Given the description of an element on the screen output the (x, y) to click on. 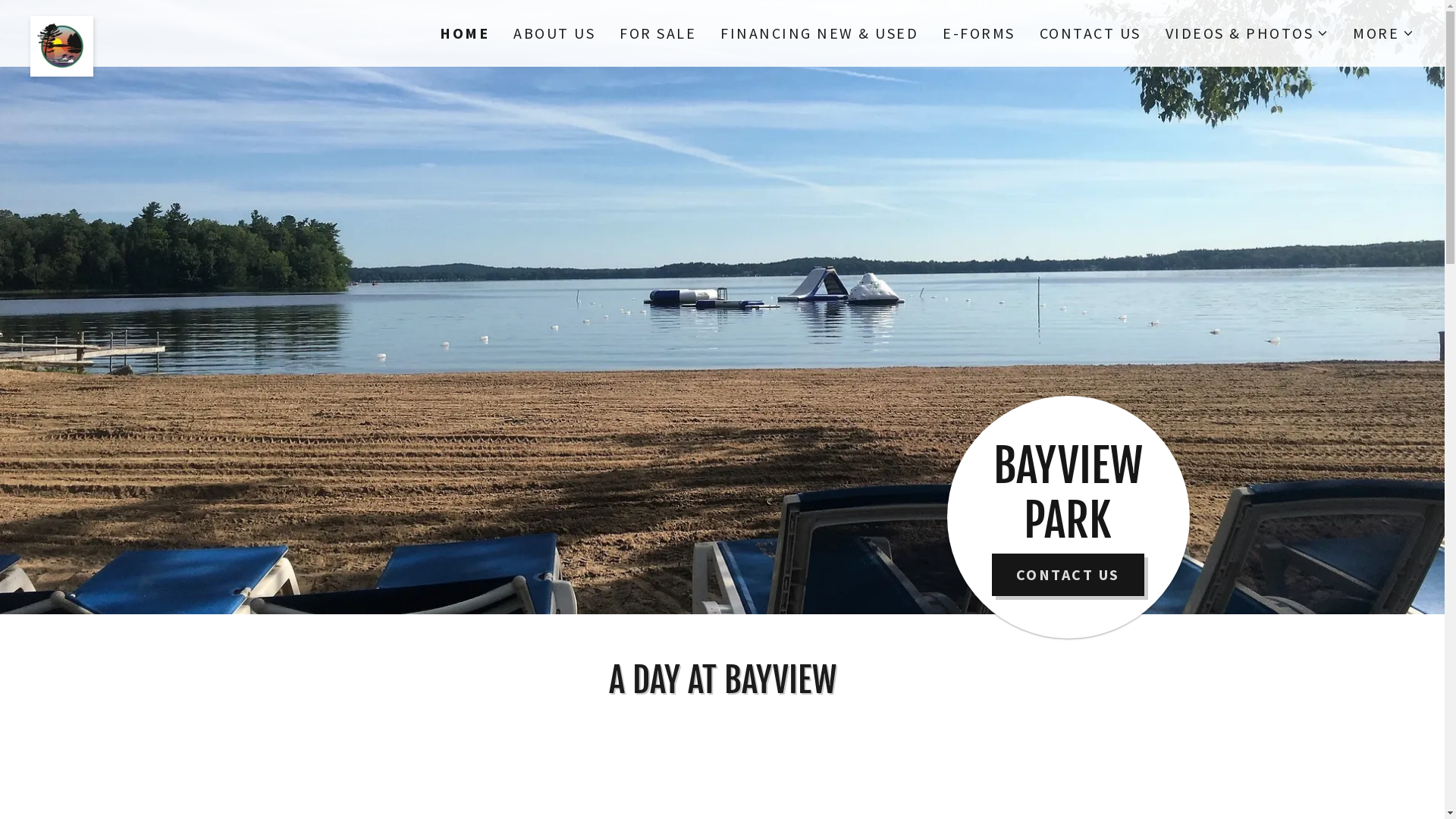
FINANCING NEW & USED Element type: text (818, 33)
CONTACT US Element type: text (1089, 33)
HOME Element type: text (464, 33)
MORE Element type: text (1383, 33)
ABOUT US Element type: text (553, 33)
FOR SALE Element type: text (657, 33)
CONTACT US Element type: text (1067, 574)
VIDEOS & PHOTOS Element type: text (1246, 33)
E-FORMS Element type: text (978, 33)
